Given the description of an element on the screen output the (x, y) to click on. 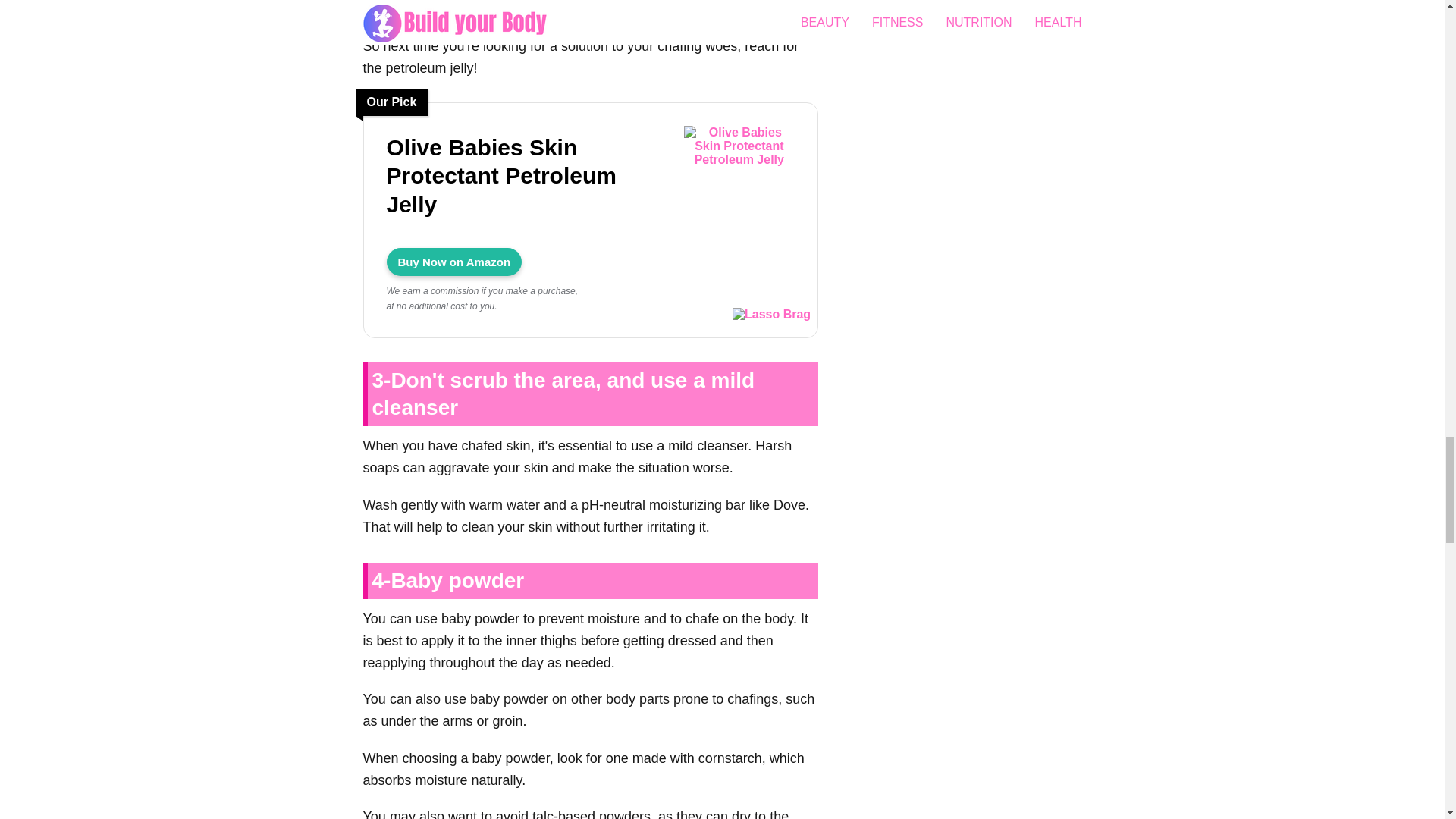
Olive Babies Skin Protectant Petroleum Jelly (524, 176)
